Given the description of an element on the screen output the (x, y) to click on. 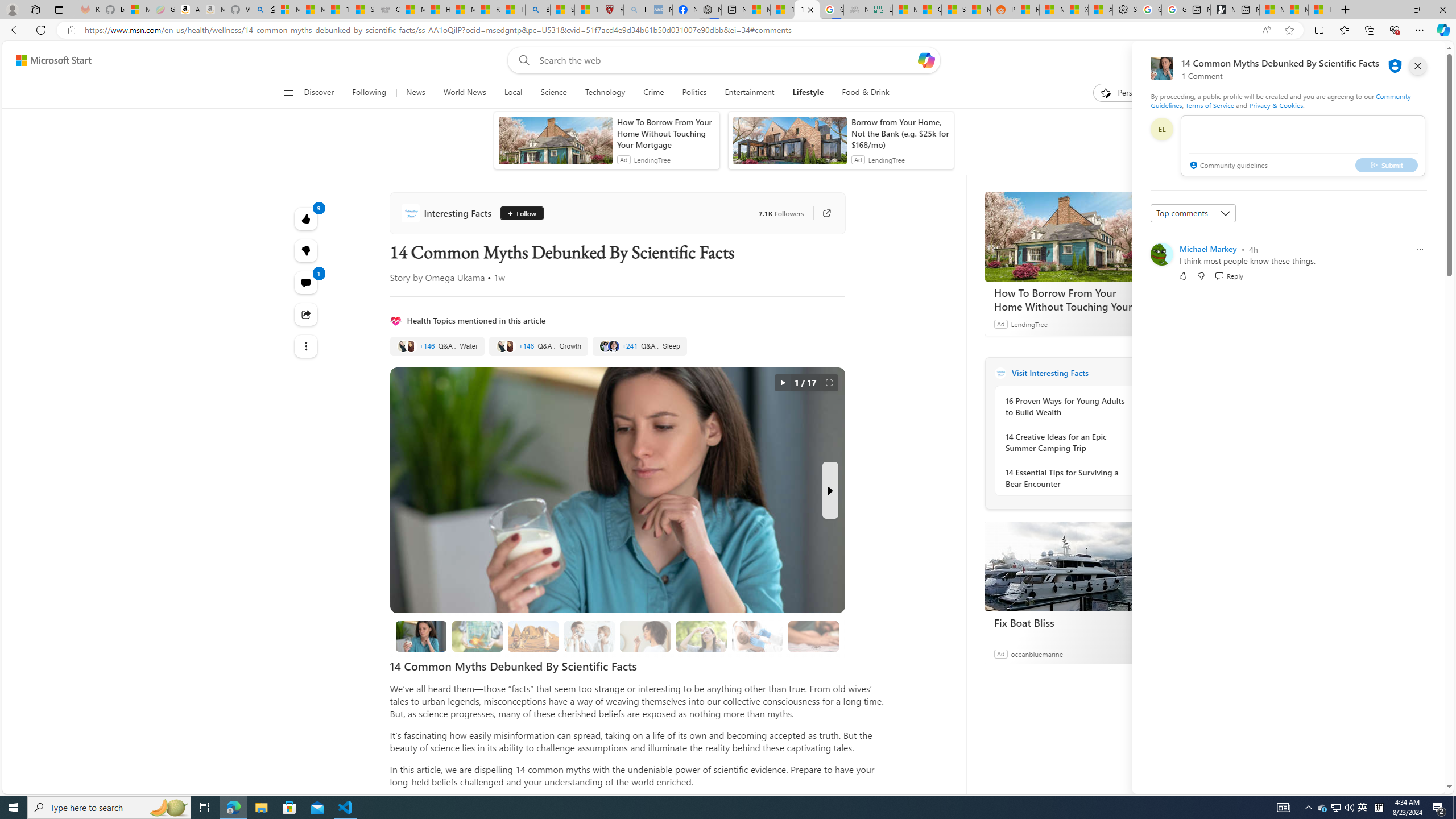
Open navigation menu (287, 92)
Crime (653, 92)
12. Invest in a Spider Catcher (813, 636)
Follow (517, 213)
